Given the description of an element on the screen output the (x, y) to click on. 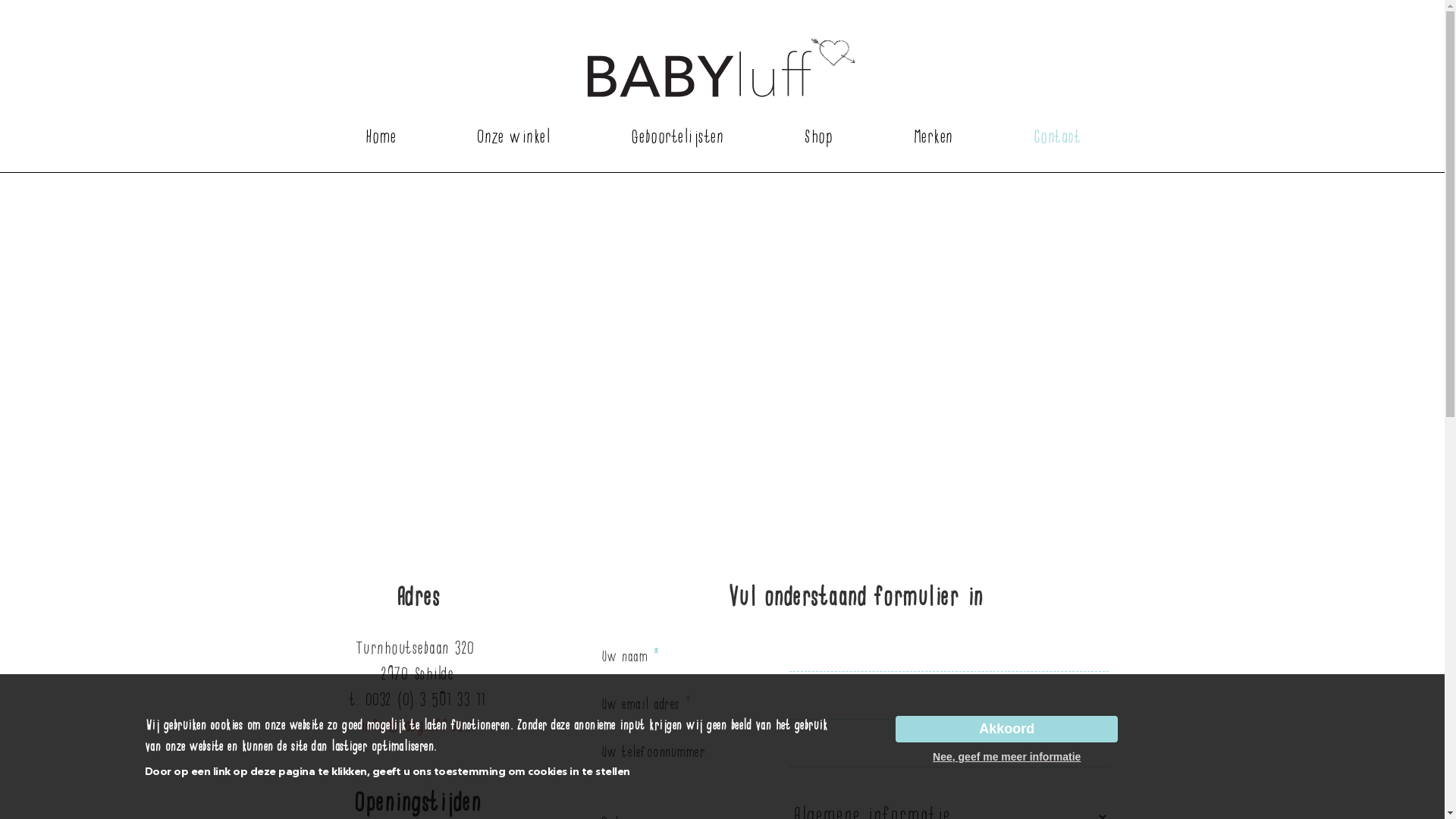
info@babyluff.com Element type: text (416, 726)
Merken Element type: text (932, 137)
Nee, geef me meer informatie Element type: text (1006, 756)
Home Element type: text (379, 137)
BABYluff Element type: text (722, 67)
Shop Element type: text (817, 137)
Geboortelijsten Element type: text (676, 137)
Akkoord Element type: text (1006, 728)
Onze winkel Element type: text (512, 137)
Contact Element type: text (1056, 137)
